Given the description of an element on the screen output the (x, y) to click on. 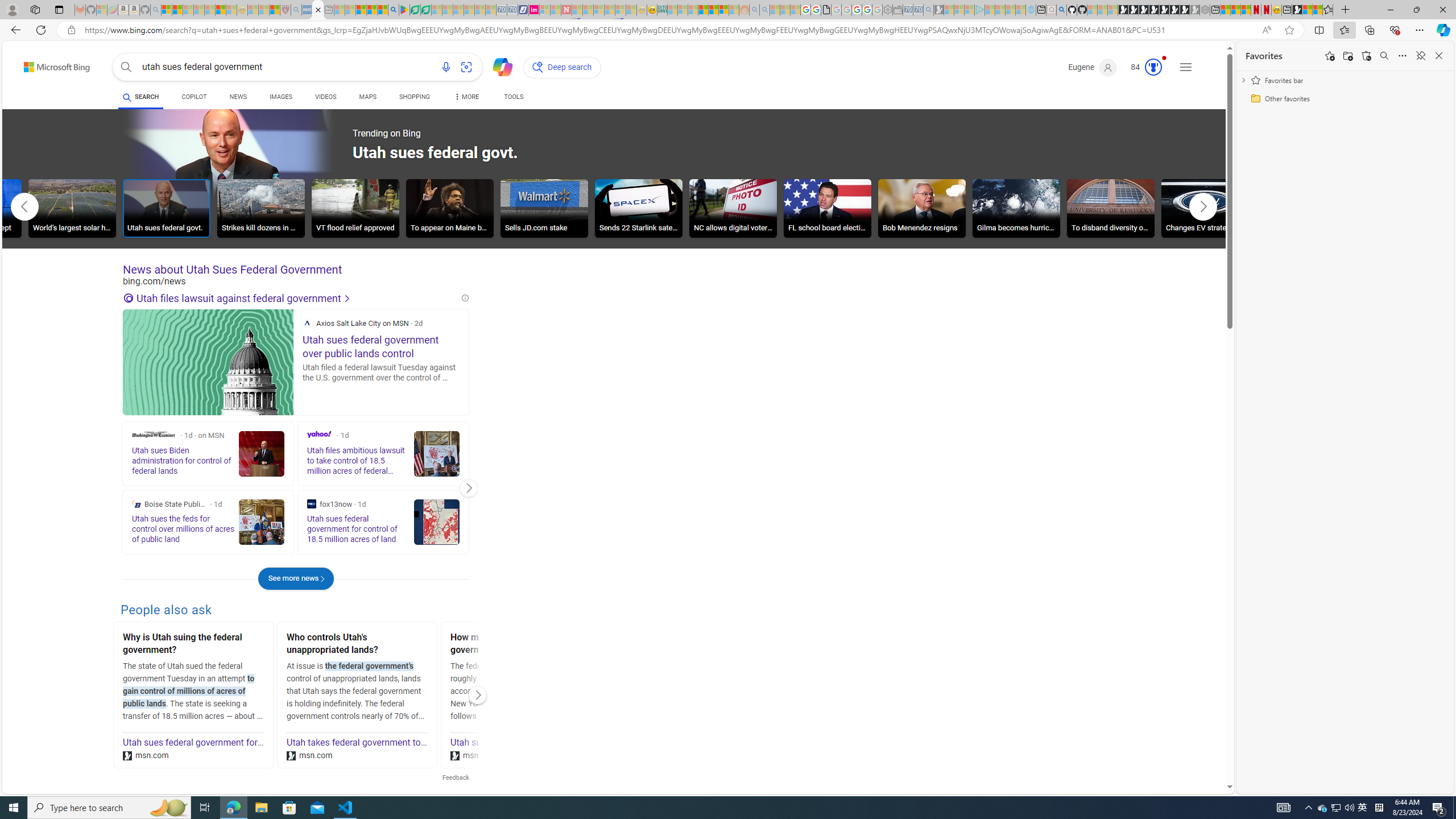
SEARCH (140, 96)
Utah sues federal government for control of public lands (235, 742)
Utah sues federal govt. (166, 209)
fox13now (311, 503)
AutomationID: rh_meter (1152, 66)
Gilma becomes hurricane (1015, 207)
Bob Menendez resigns (921, 209)
Wildlife - MSN (1307, 9)
